Given the description of an element on the screen output the (x, y) to click on. 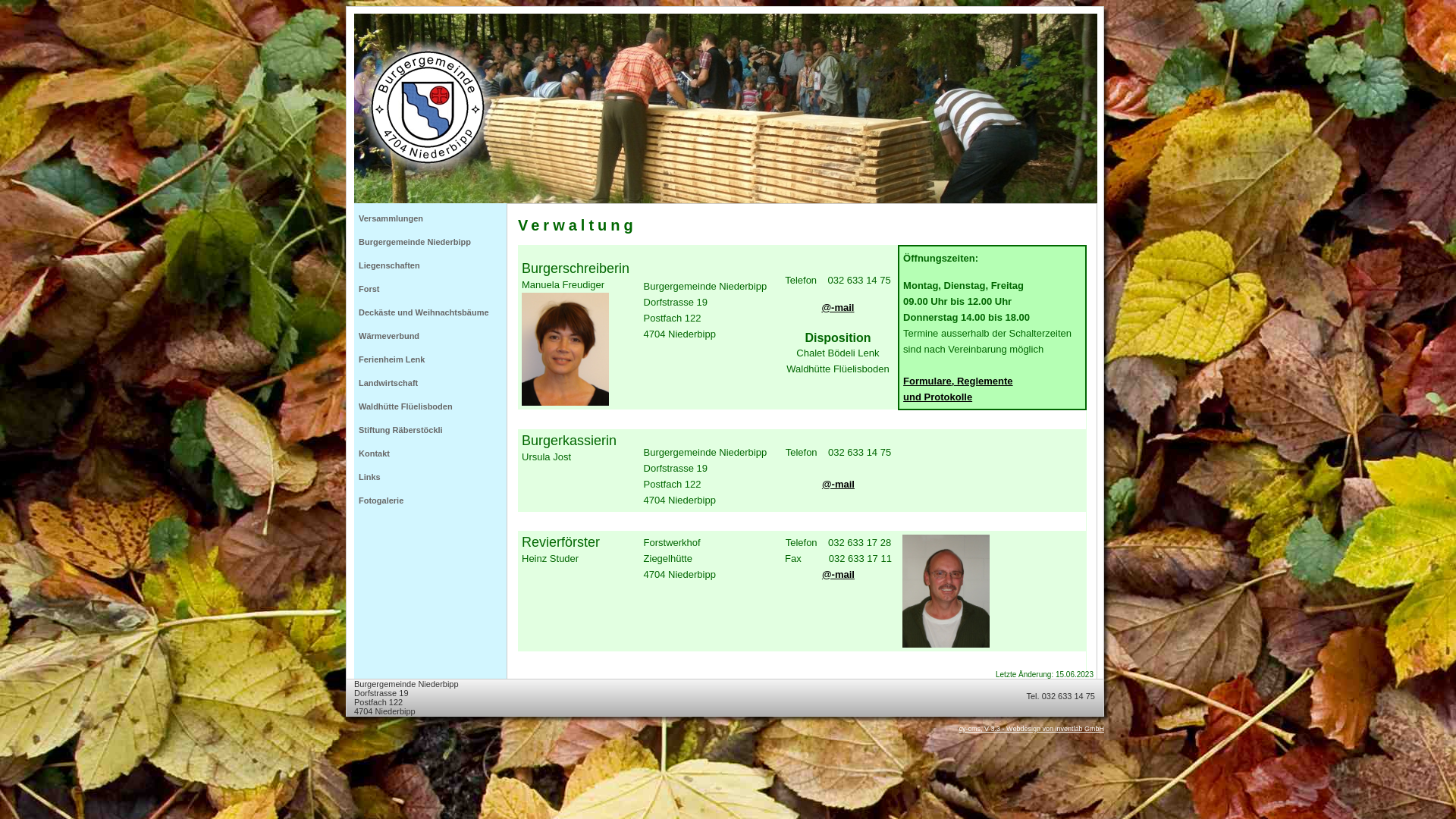
Forst Element type: text (431, 289)
Links Element type: text (431, 477)
Formulare, Reglemente Element type: text (958, 380)
Burgergemeinde Niederbipp Element type: text (431, 242)
Ferienheim Lenk Element type: text (431, 359)
Landwirtschaft Element type: text (431, 383)
Liegenschaften Element type: text (431, 265)
und Protokolle Element type: text (937, 396)
Versammlungen Element type: text (431, 218)
cy-cms, V 3.3 - Webdesign von inventlab GmbH Element type: text (1031, 728)
Kontakt Element type: text (431, 453)
@-mail Element type: text (838, 483)
@-mail Element type: text (838, 574)
Fotogalerie Element type: text (431, 500)
@-mail Element type: text (837, 307)
